Given the description of an element on the screen output the (x, y) to click on. 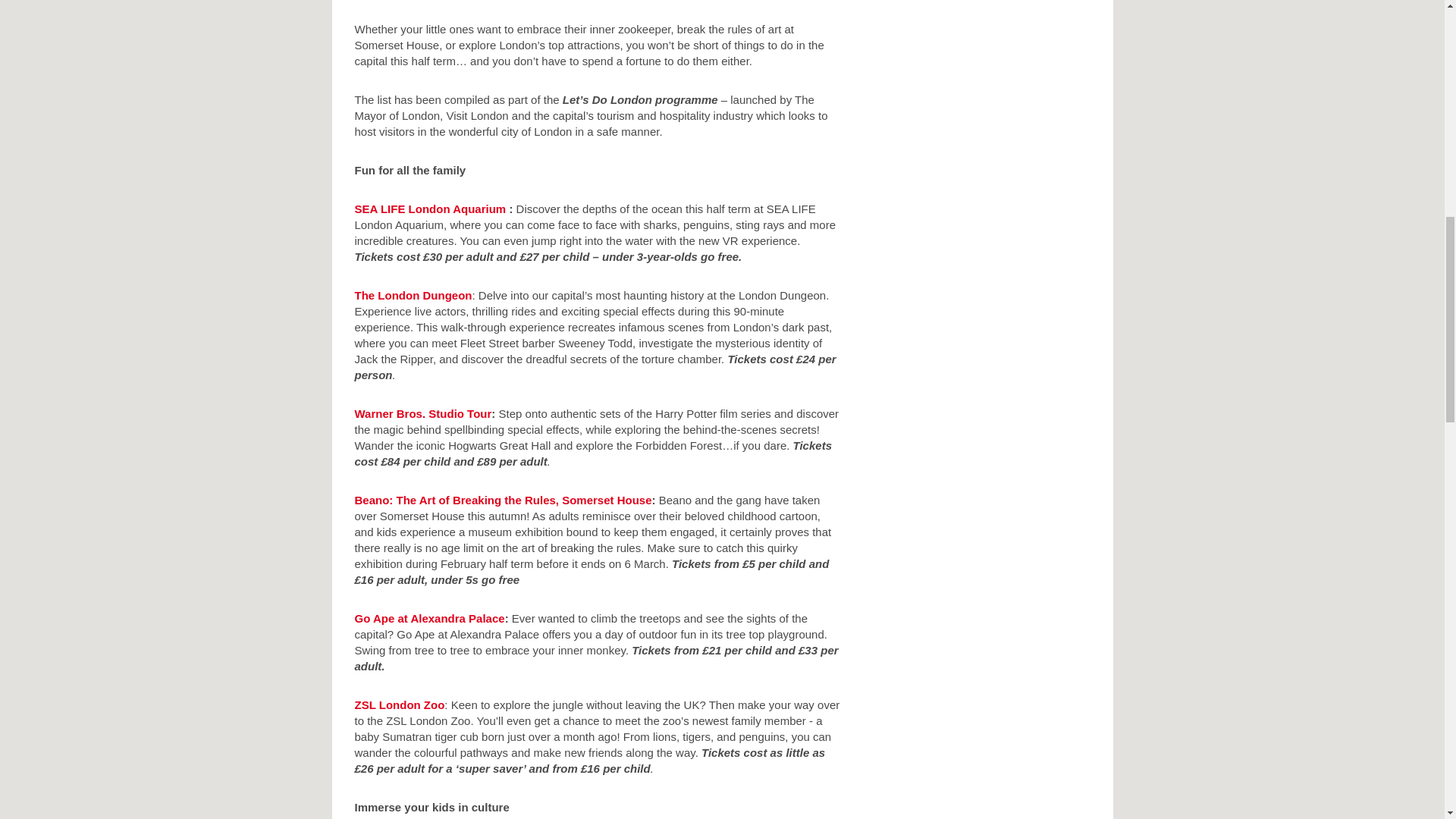
Link will open in a new window (423, 413)
SEA LIFE London Aquarium (432, 208)
Link will open in a new window (503, 499)
Link will open in a new window (400, 704)
Beano: The Art of Breaking the Rules, Somerset House (503, 499)
The London Dungeon (413, 295)
Link will open in a new window (430, 617)
Link will open in a new window (413, 295)
ZSL London Zoo (400, 704)
Warner Bros. Studio Tour (423, 413)
Go Ape at Alexandra Palace (430, 617)
Link will open in a new window (432, 208)
